Given the description of an element on the screen output the (x, y) to click on. 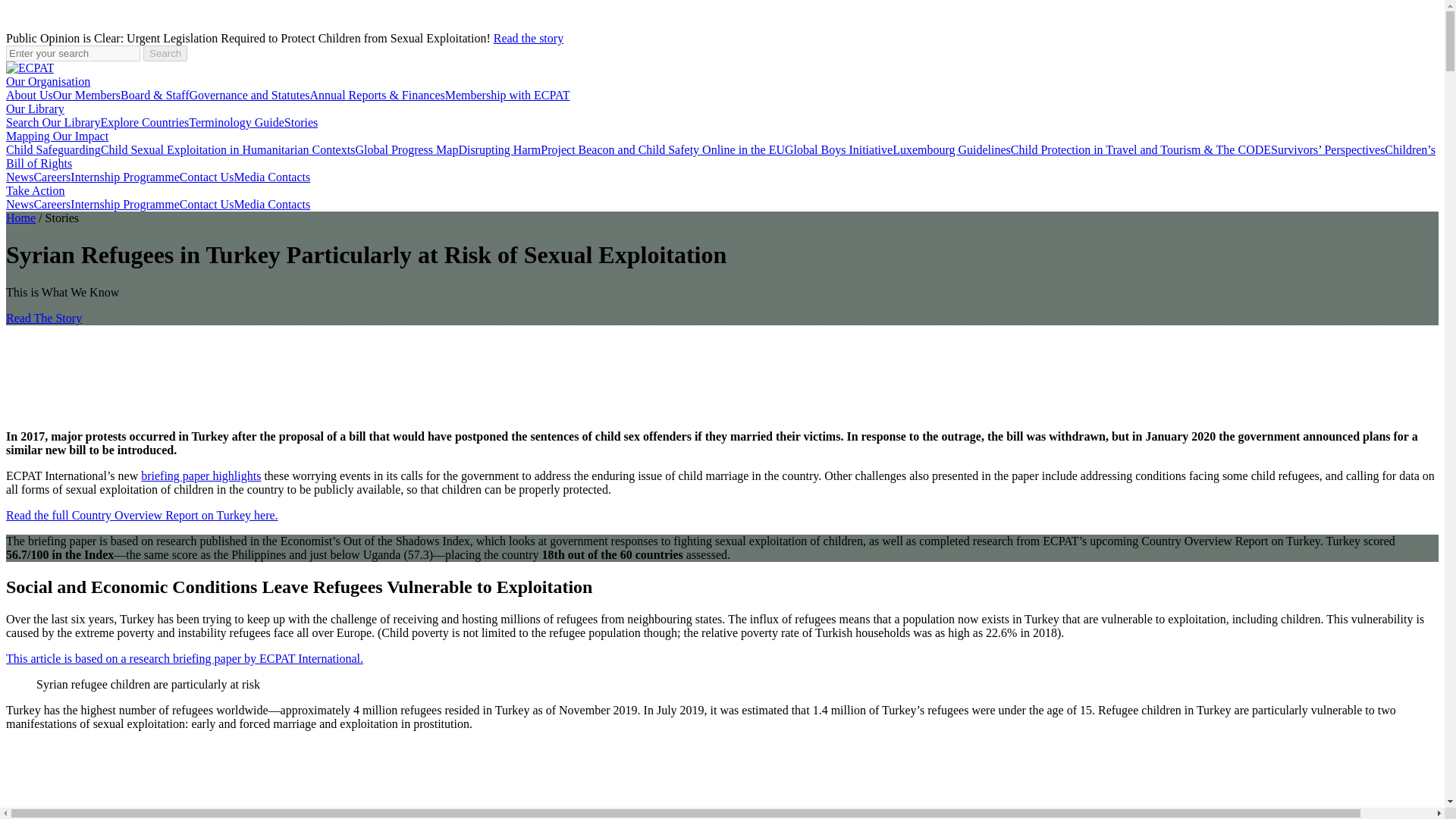
Careers (51, 204)
About Us (28, 94)
Read the story (528, 38)
Stories (300, 122)
Global Boys Initiative (838, 149)
Child Safeguarding (52, 149)
Media Contacts (271, 204)
Media Contacts (271, 176)
Our Members (86, 94)
Project Beacon and Child Safety Online in the EU (662, 149)
Search (164, 53)
Internship Programme (124, 176)
Home (19, 217)
Search Our Library (52, 122)
